Given the description of an element on the screen output the (x, y) to click on. 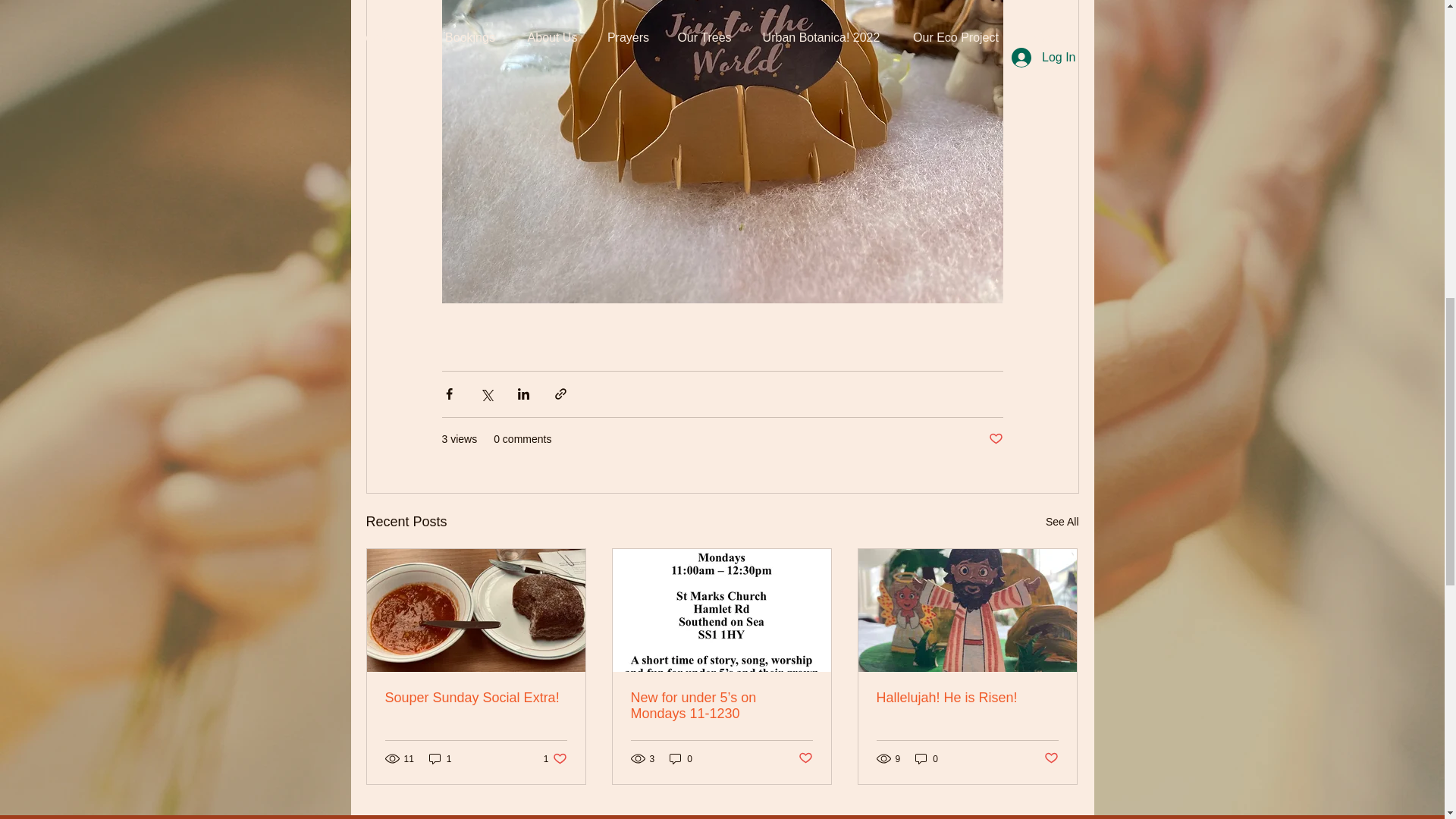
See All (1061, 522)
Hallelujah! He is Risen! (967, 697)
Post not marked as liked (804, 758)
1 (440, 758)
0 (681, 758)
Souper Sunday Social Extra! (555, 758)
Post not marked as liked (476, 697)
